Given the description of an element on the screen output the (x, y) to click on. 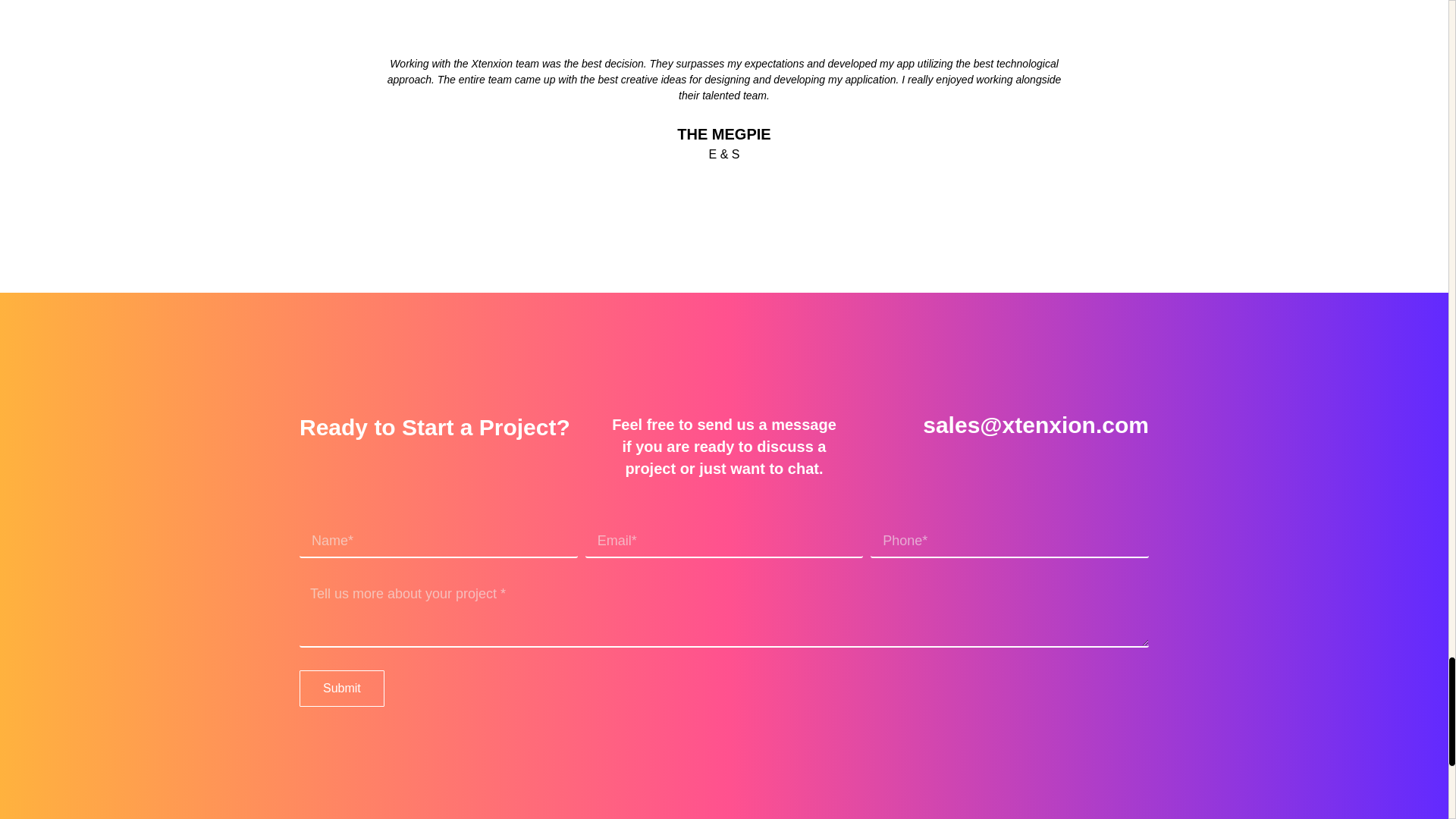
Submit (341, 688)
